Given the description of an element on the screen output the (x, y) to click on. 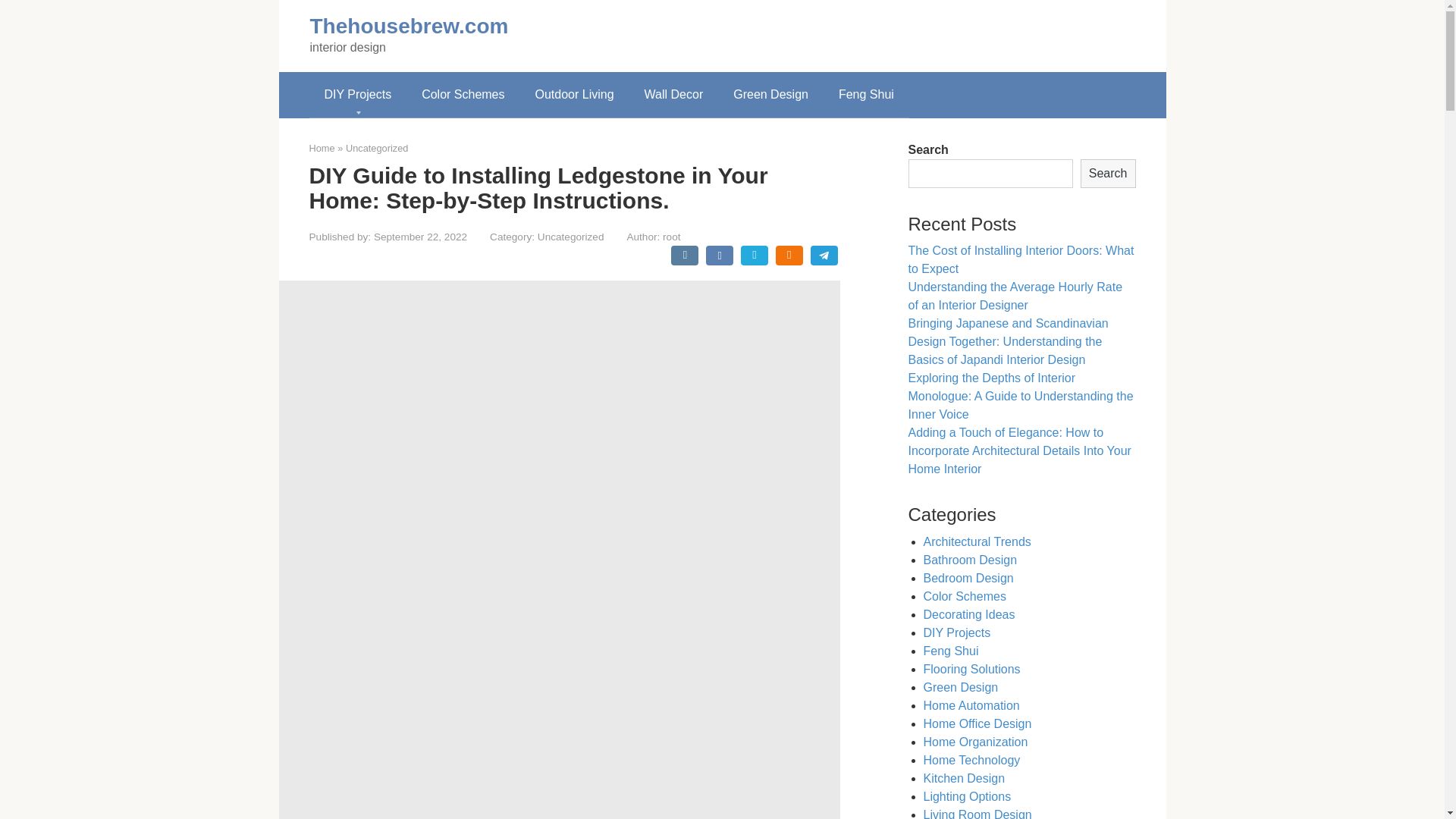
Uncategorized (377, 147)
Home (321, 147)
Color Schemes (462, 94)
Wall Decor (673, 94)
Feng Shui (866, 94)
Thehousebrew.com (408, 25)
DIY Projects (357, 94)
Green Design (770, 94)
Uncategorized (570, 236)
Outdoor Living (573, 94)
